Given the description of an element on the screen output the (x, y) to click on. 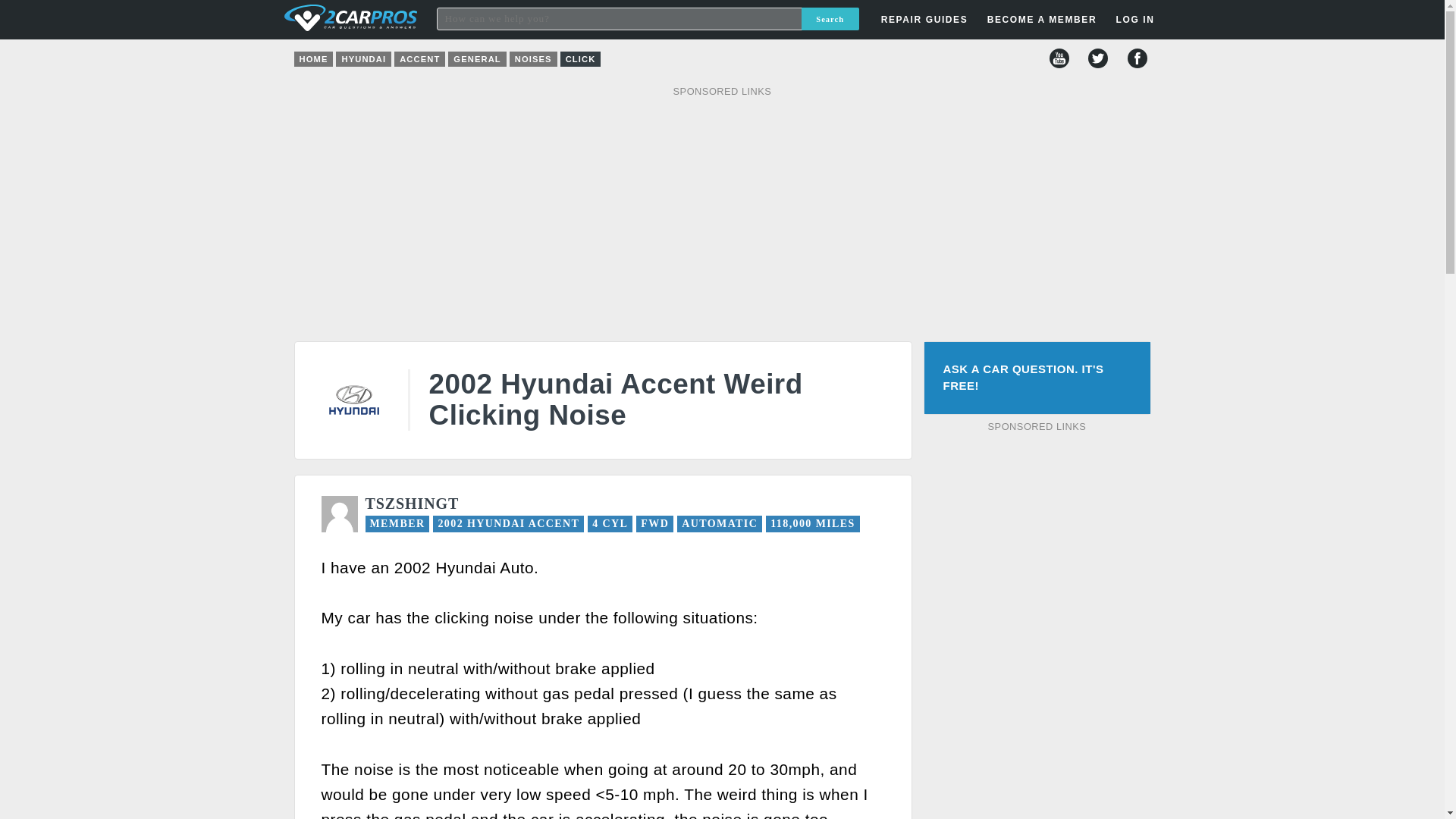
YouTube (1058, 57)
Search (830, 18)
LOG IN (1134, 19)
CLICK (580, 58)
GENERAL (476, 58)
BECOME A MEMBER (1041, 19)
ACCENT (419, 58)
NOISES (533, 58)
Facebook (1136, 57)
Search (830, 18)
